Given the description of an element on the screen output the (x, y) to click on. 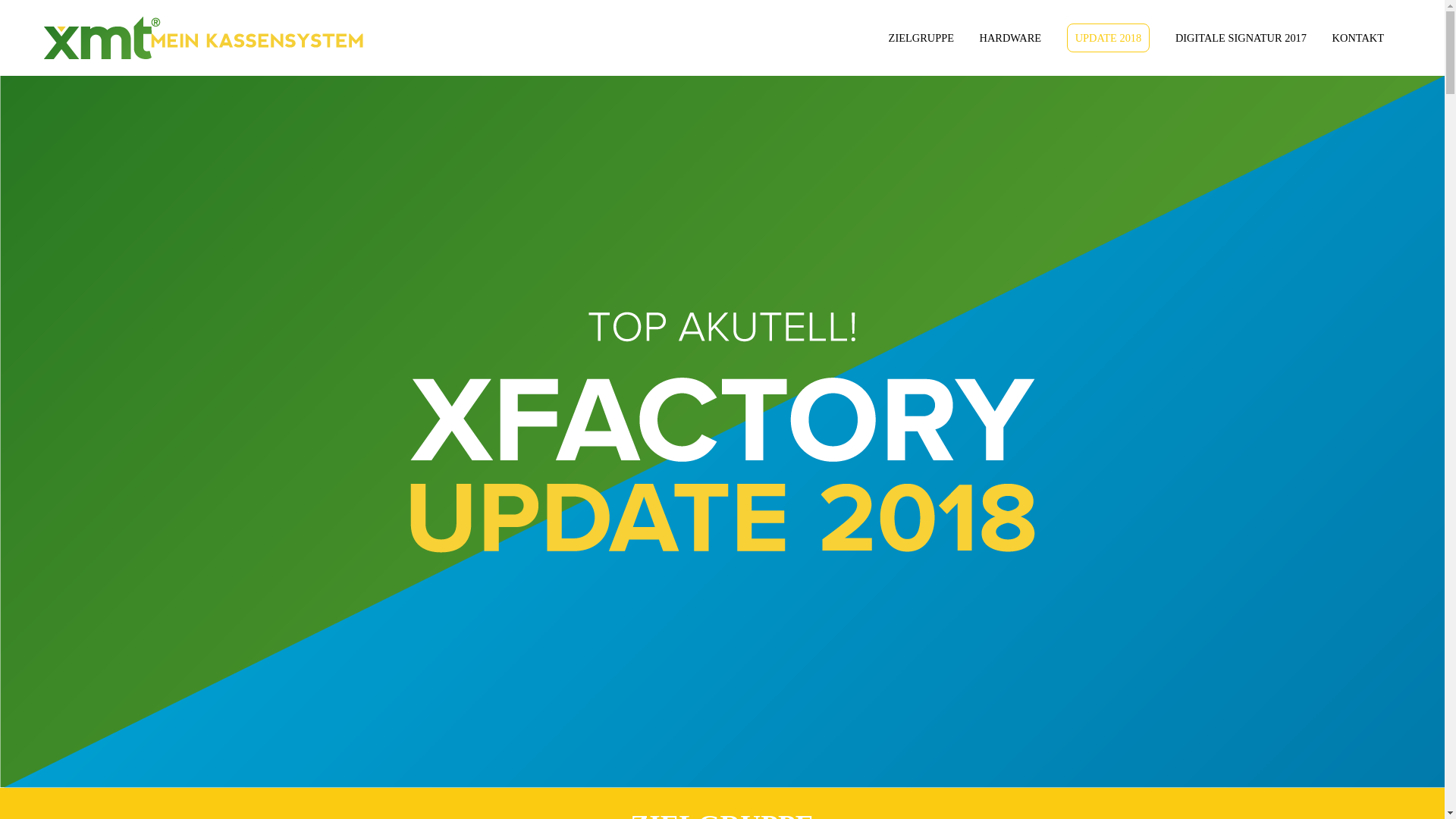
HARDWARE Element type: text (1010, 37)
UPDATE 2018 Element type: text (1108, 37)
KONTAKT Element type: text (1357, 37)
ZIELGRUPPE Element type: text (920, 37)
DIGITALE SIGNATUR 2017 Element type: text (1240, 37)
